Given the description of an element on the screen output the (x, y) to click on. 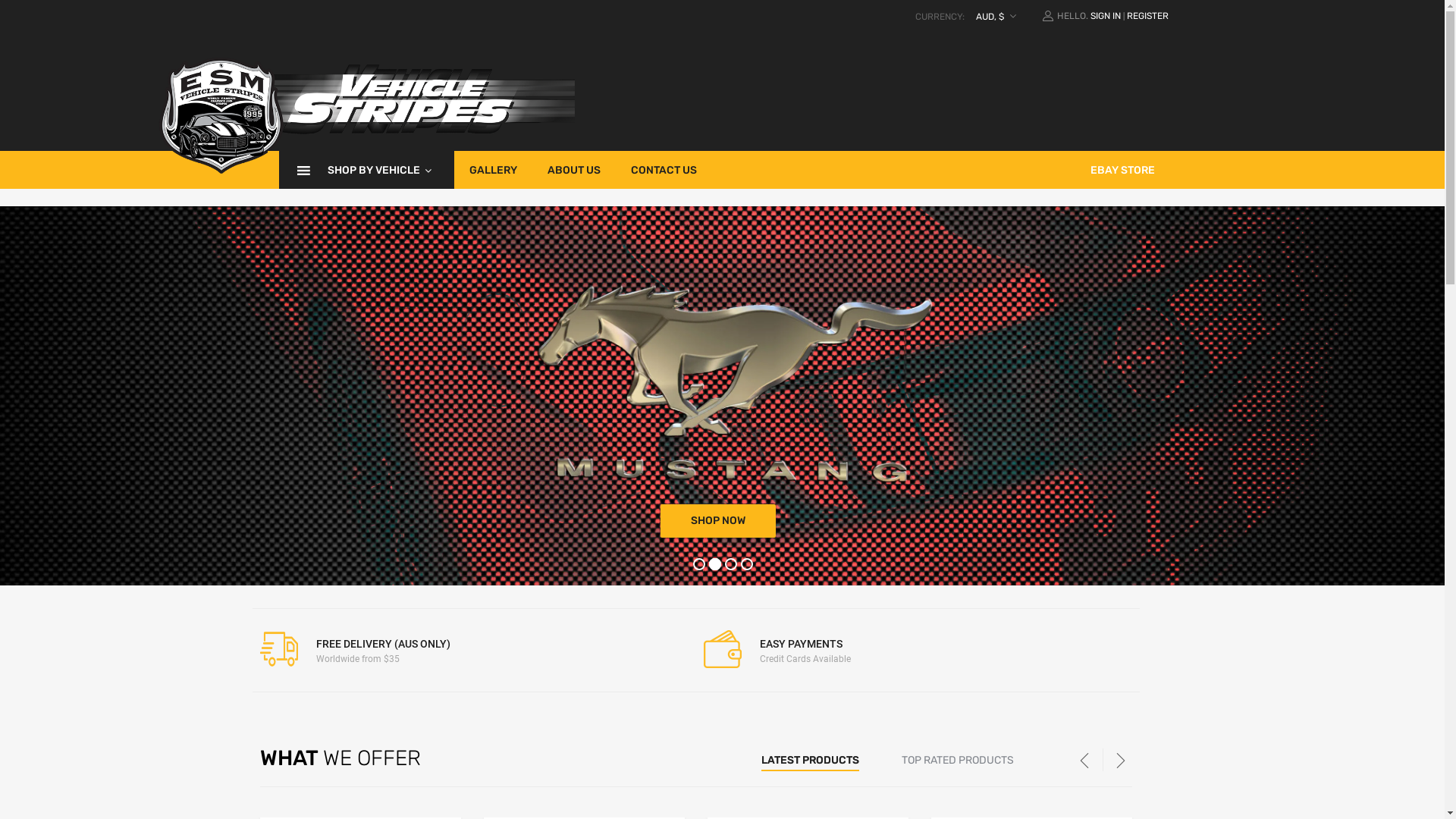
GALLERY Element type: text (492, 169)
CONTACT US Element type: text (663, 169)
EBAY STORE Element type: text (1121, 169)
ESM Vehicle Stripes Element type: hover (365, 173)
SIGN IN Element type: text (1105, 15)
Login Element type: text (799, 432)
REGISTER Element type: text (1147, 15)
TOP RATED PRODUCTS Element type: text (956, 760)
ABOUT US Element type: text (573, 169)
SHOP BY VEHICLE Element type: text (366, 169)
Register Element type: text (795, 469)
LATEST PRODUCTS Element type: text (810, 760)
